Given the description of an element on the screen output the (x, y) to click on. 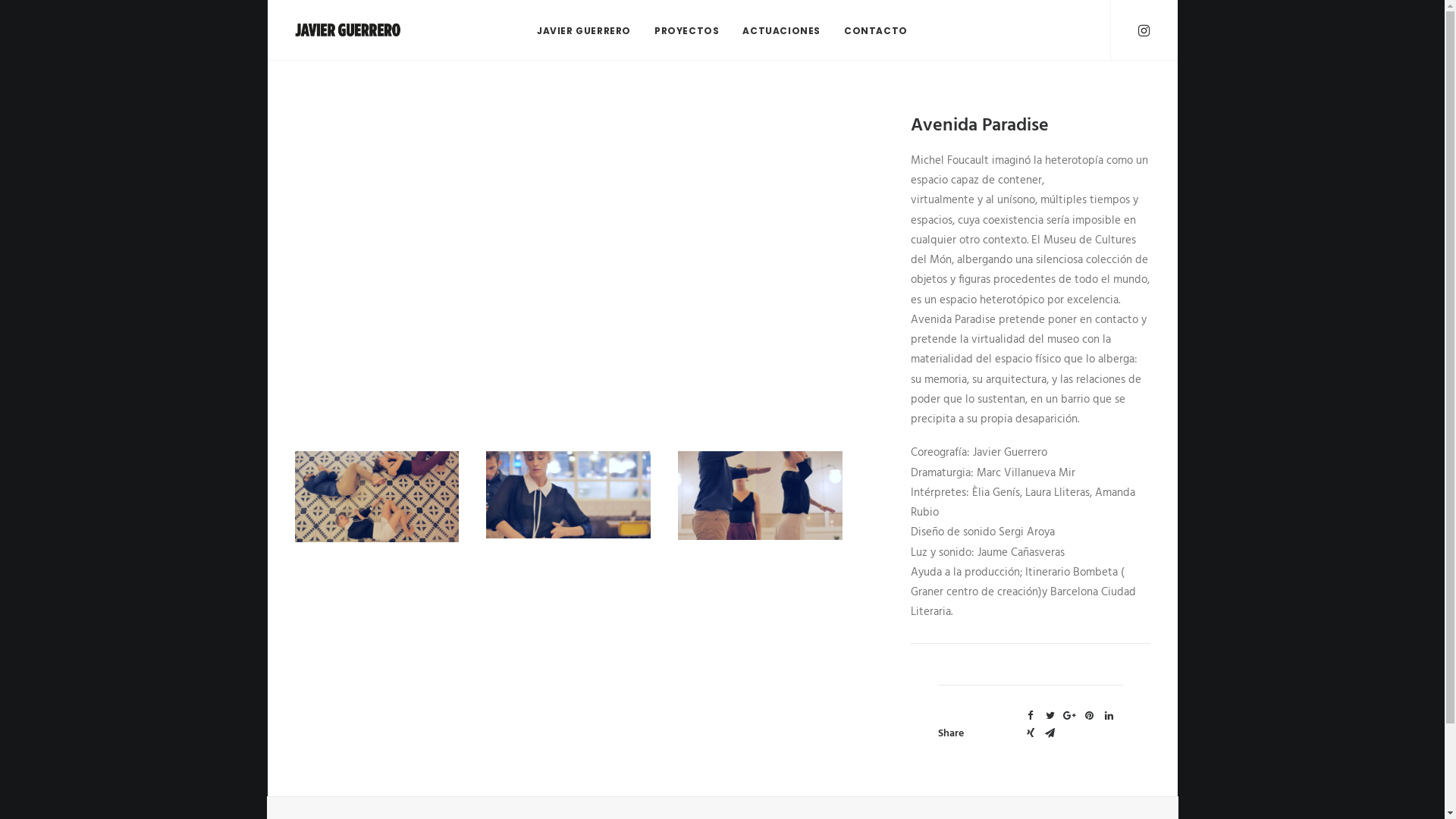
AVENIDA PARADISE Element type: hover (567, 241)
PROYECTOS Element type: text (686, 29)
CONTACTO Element type: text (870, 29)
JAVIER GUERRERO Element type: text (588, 29)
ACTUACIONES Element type: text (781, 29)
